Given the description of an element on the screen output the (x, y) to click on. 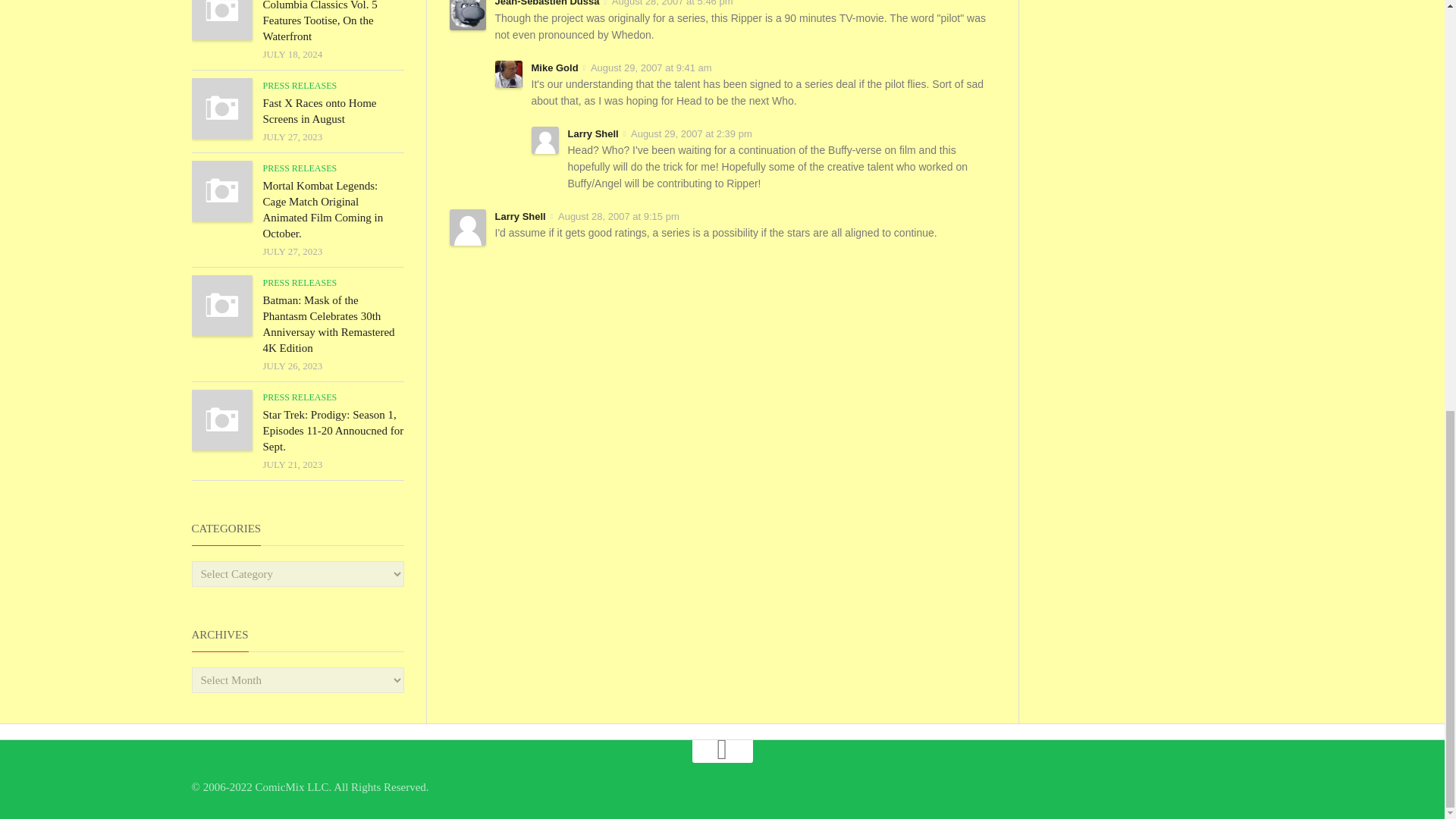
August 29, 2007 at 9:41 am (651, 67)
August 29, 2007 at 2:39 pm (691, 133)
August 28, 2007 at 5:46 pm (672, 3)
August 28, 2007 at 9:15 pm (618, 215)
